Given the description of an element on the screen output the (x, y) to click on. 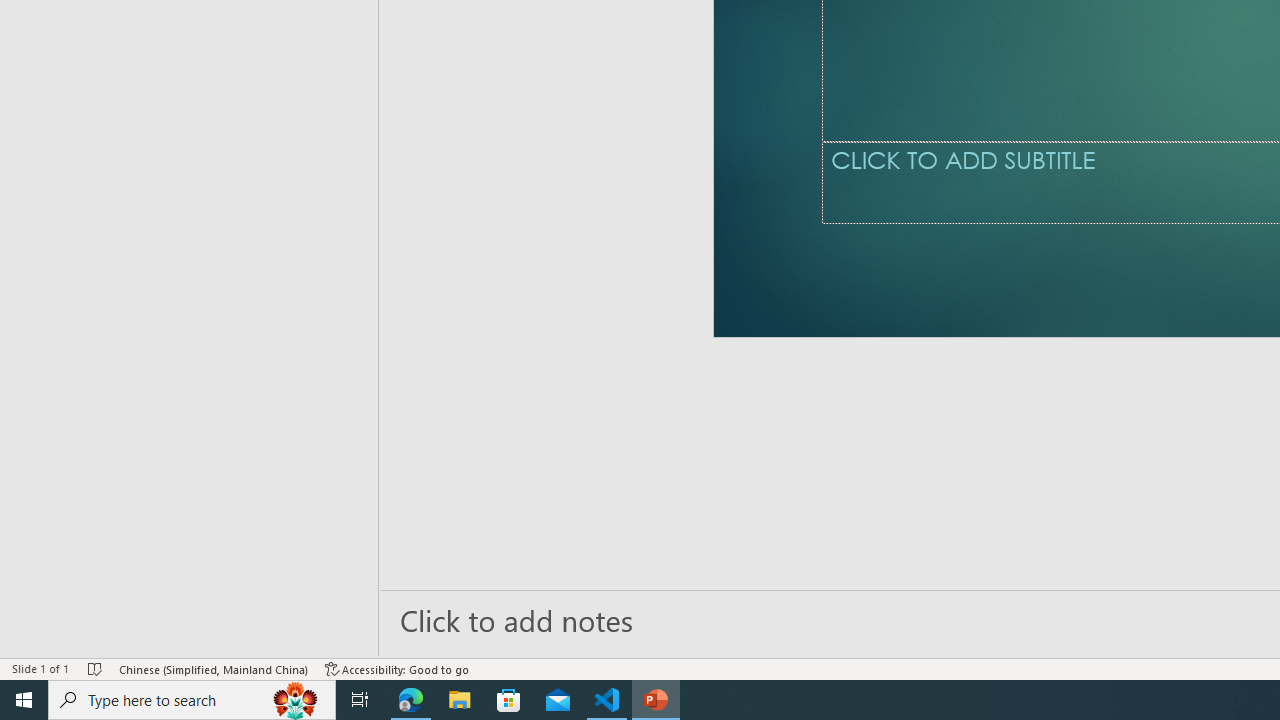
Accessibility Checker Accessibility: Good to go (397, 668)
